Given the description of an element on the screen output the (x, y) to click on. 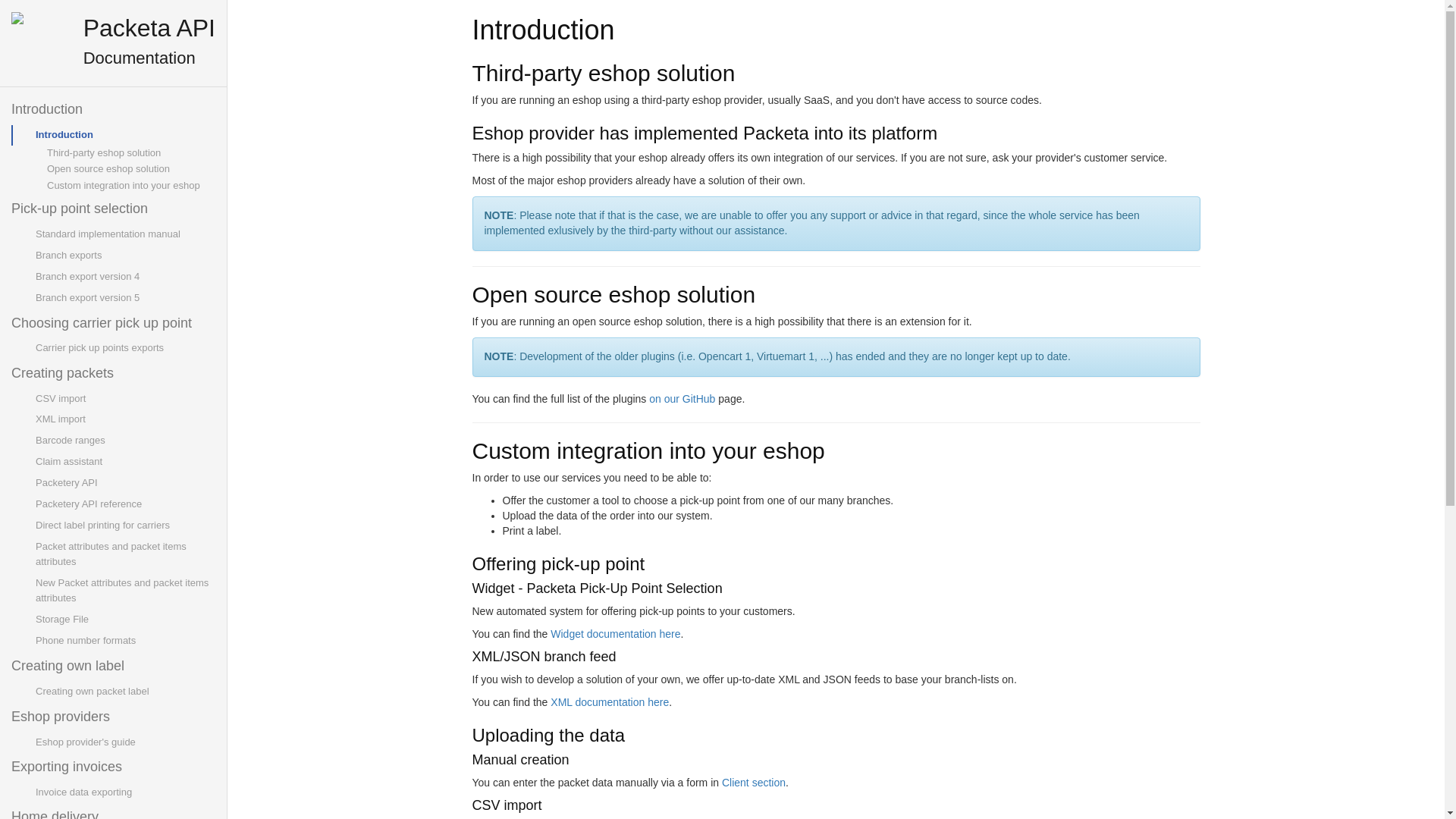
Open source eshop solution (124, 168)
Storage File (124, 619)
Phone number formats (124, 640)
Eshop provider's guide (124, 742)
Packetery API reference (124, 504)
Packetery API (124, 482)
Branch export version 4 (124, 276)
XML documentation here (609, 702)
Standard implementation manual (124, 234)
Branch exports (124, 255)
Client section (754, 782)
on our GitHub (681, 398)
Barcode ranges (124, 440)
Widget documentation here (614, 633)
Packet attributes and packet items attributes (124, 554)
